Given the description of an element on the screen output the (x, y) to click on. 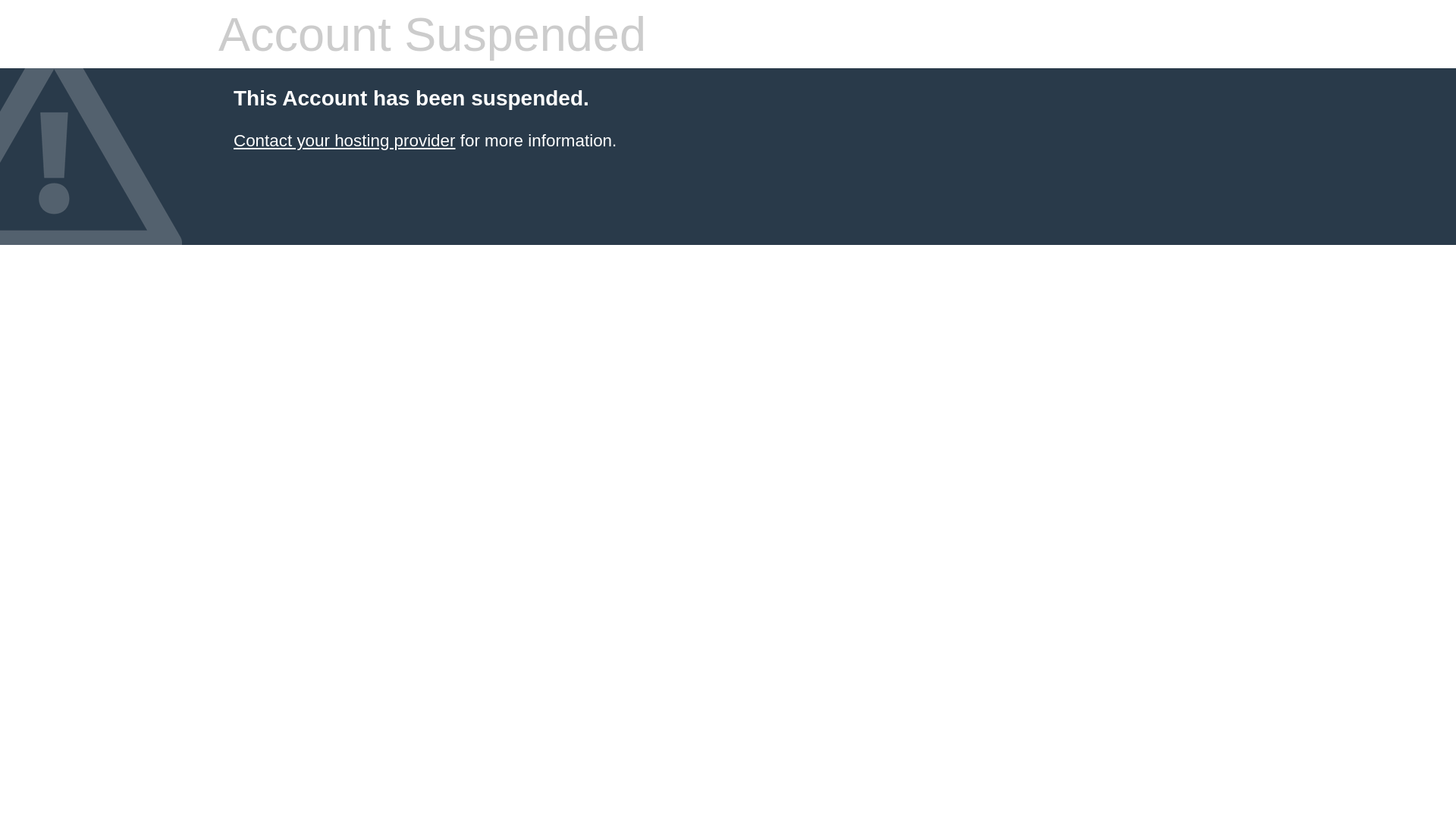
Contact your hosting provider Element type: text (344, 140)
